Given the description of an element on the screen output the (x, y) to click on. 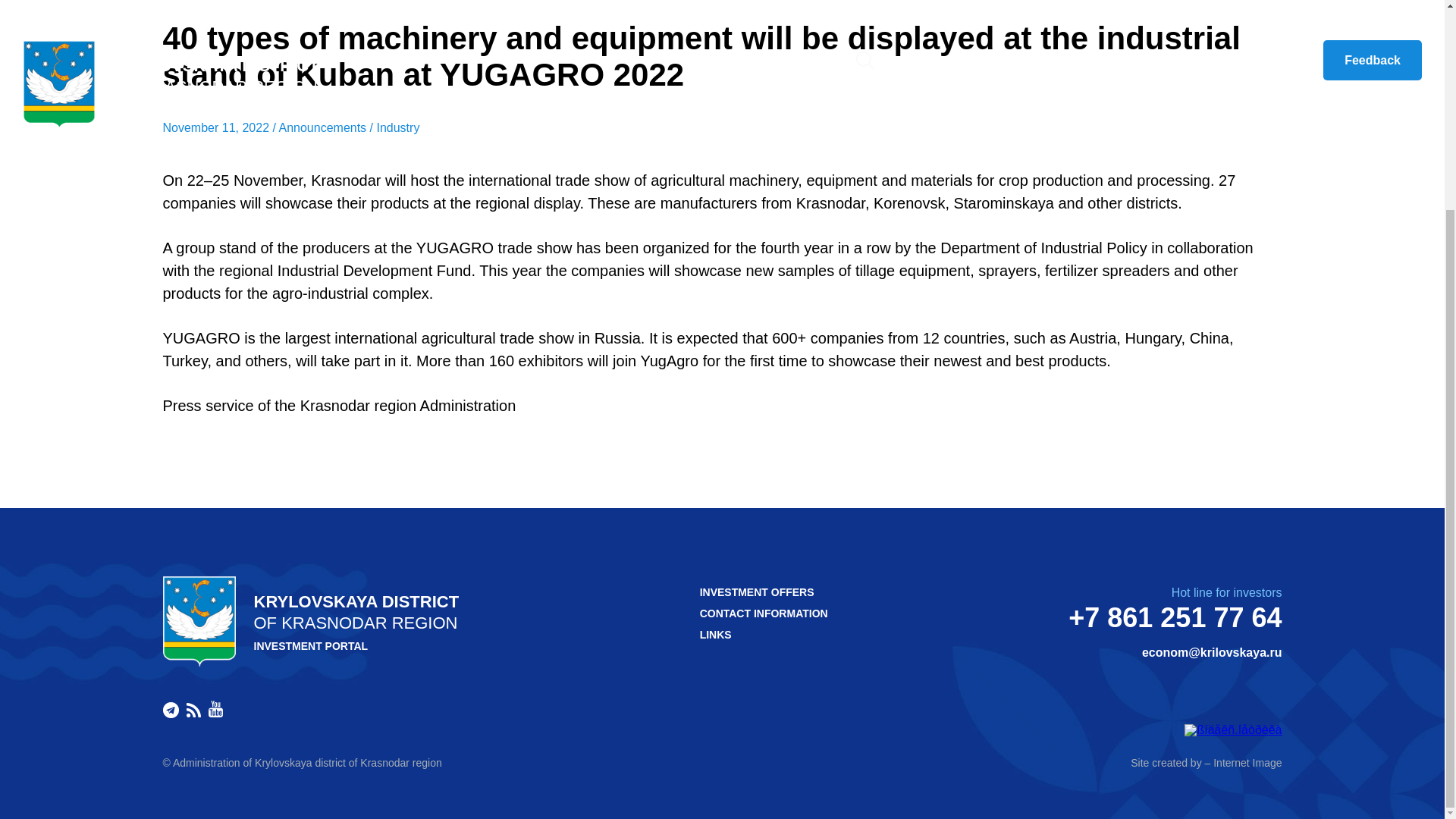
Send message (1211, 653)
